Given the description of an element on the screen output the (x, y) to click on. 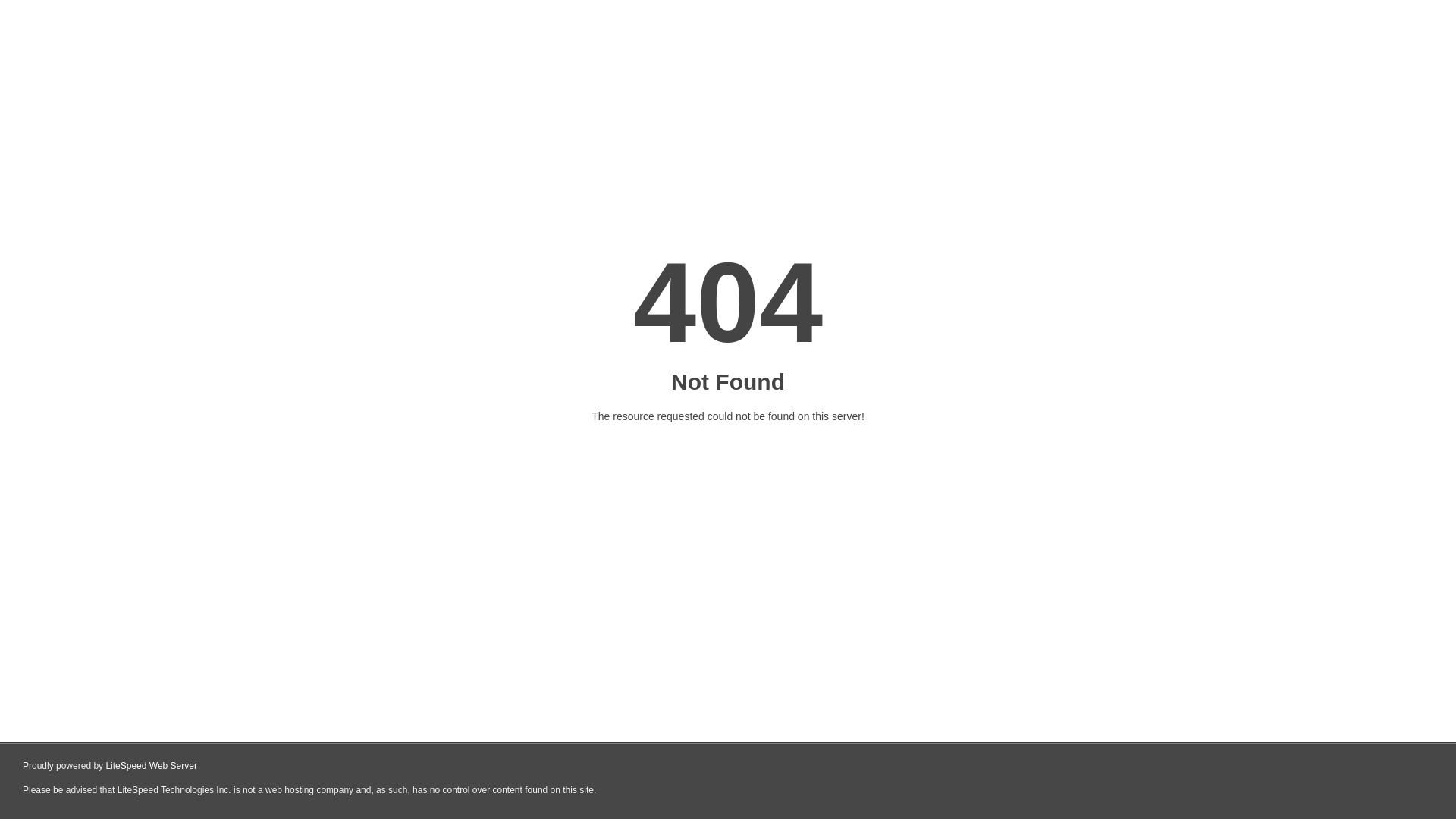
LiteSpeed Web Server Element type: text (151, 765)
